Given the description of an element on the screen output the (x, y) to click on. 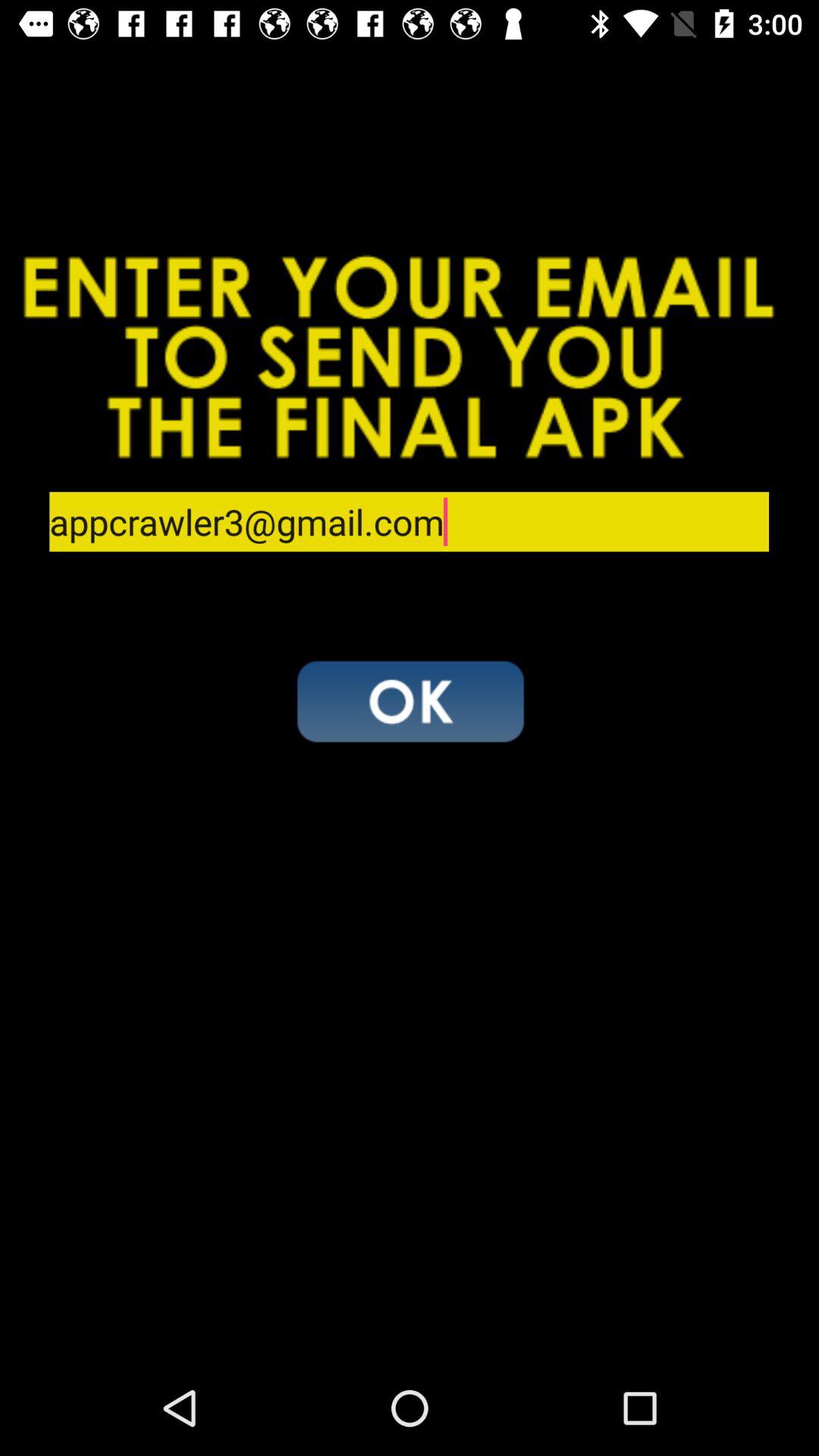
select accept (409, 700)
